Given the description of an element on the screen output the (x, y) to click on. 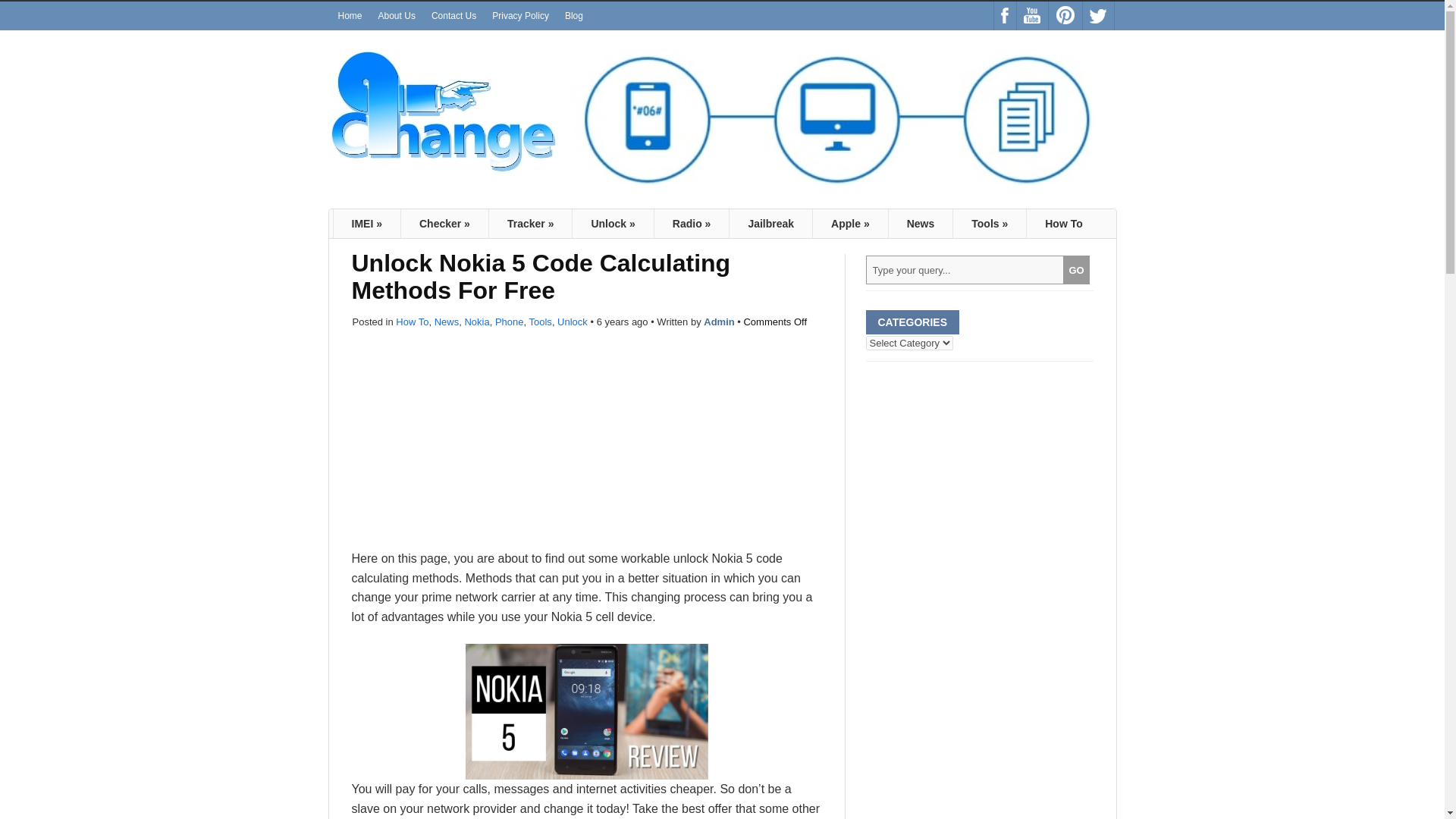
youtube (1031, 15)
GO (1075, 269)
twitter (1098, 15)
Blog (574, 15)
Privacy Policy (520, 15)
Type your query... (965, 269)
Contact Us (453, 15)
Home (349, 15)
Advertisement (587, 442)
pinterest (1064, 15)
